Given the description of an element on the screen output the (x, y) to click on. 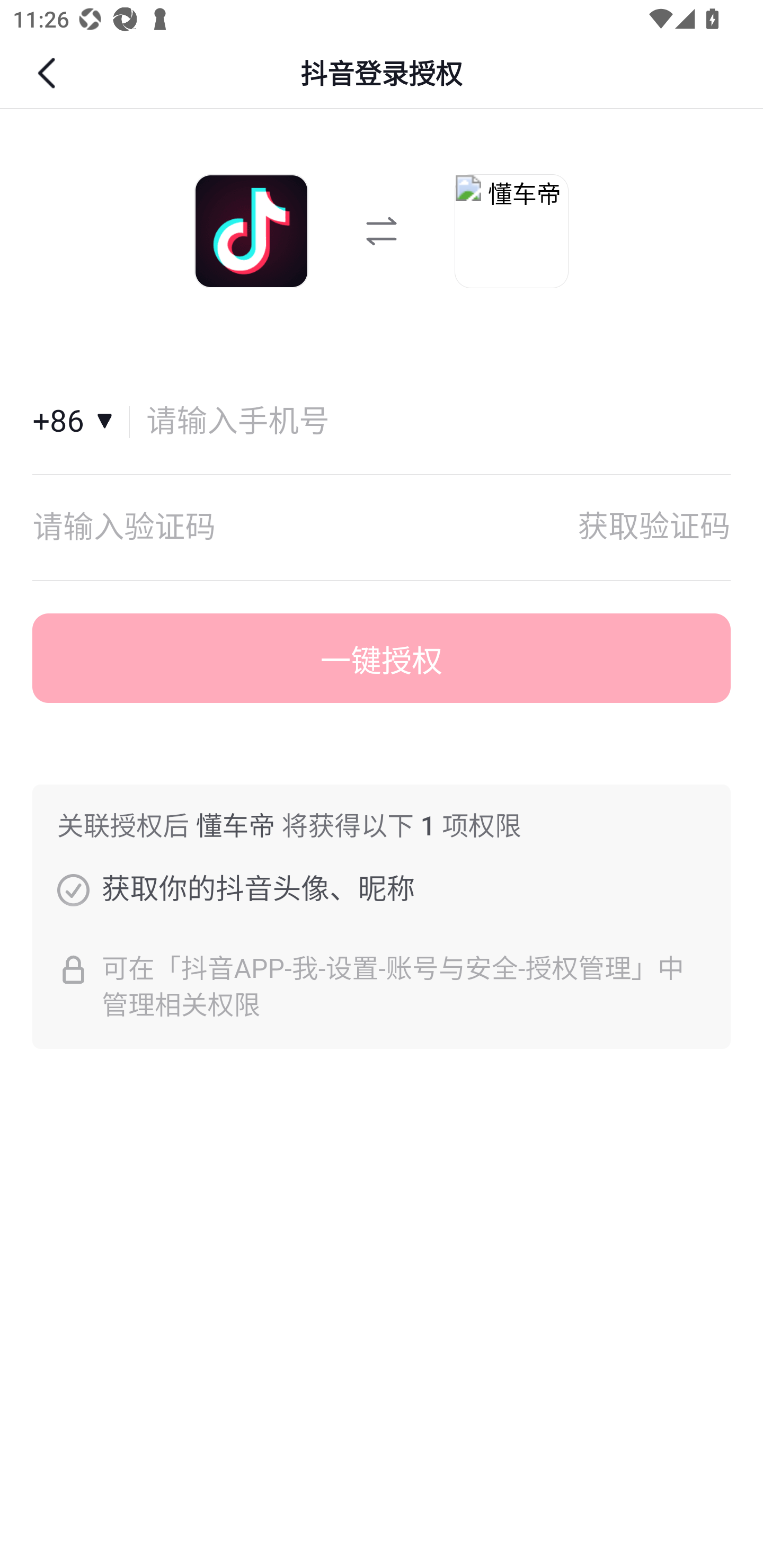
返回 (49, 72)
国家和地区+86 (81, 421)
获取验证码 (653, 526)
一键授权 (381, 658)
获取你的抖音头像、昵称 (72, 889)
